Given the description of an element on the screen output the (x, y) to click on. 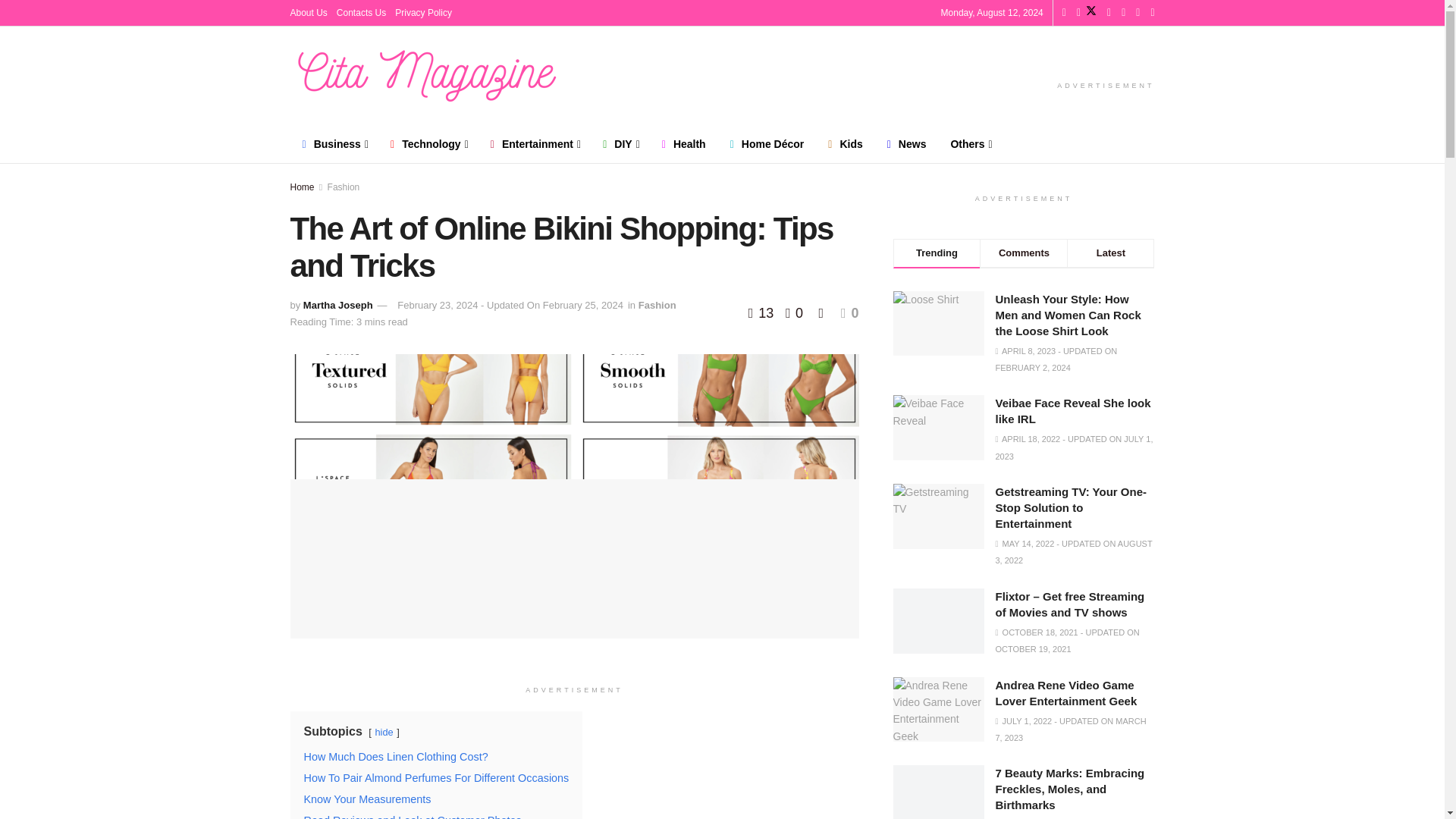
Health (683, 143)
About Us (307, 12)
7 Beauty Marks: Embracing Freckles, Moles, And Birthmarks 12 (938, 791)
Business (333, 143)
Getstreaming Tv: Your One-Stop Solution To Entertainment 9 (938, 516)
Others (969, 143)
Flixtor - Get Free Streaming Of Movies And Tv Shows 10 (938, 620)
Entertainment (535, 143)
